Given the description of an element on the screen output the (x, y) to click on. 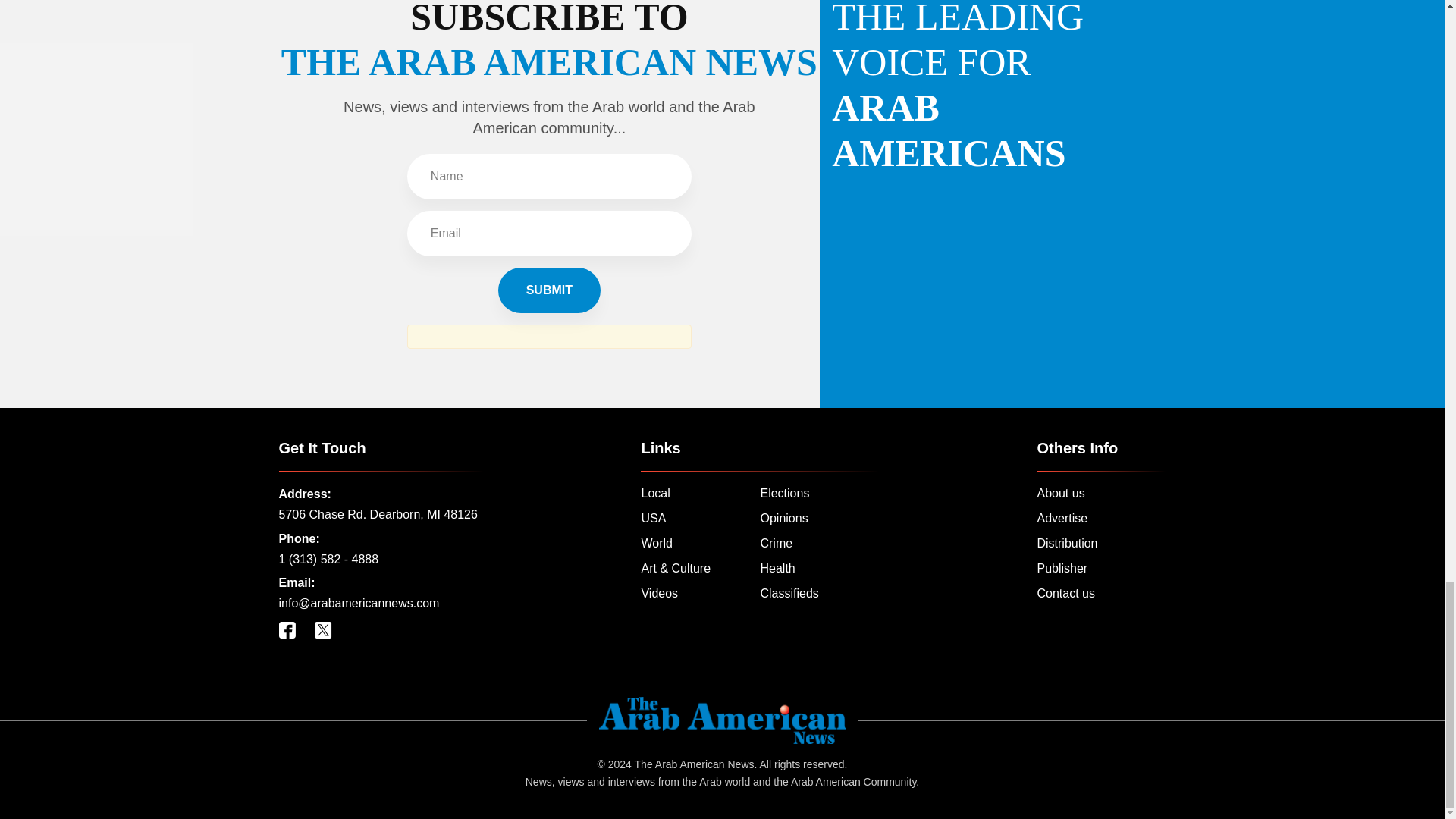
Submit (548, 289)
